Given the description of an element on the screen output the (x, y) to click on. 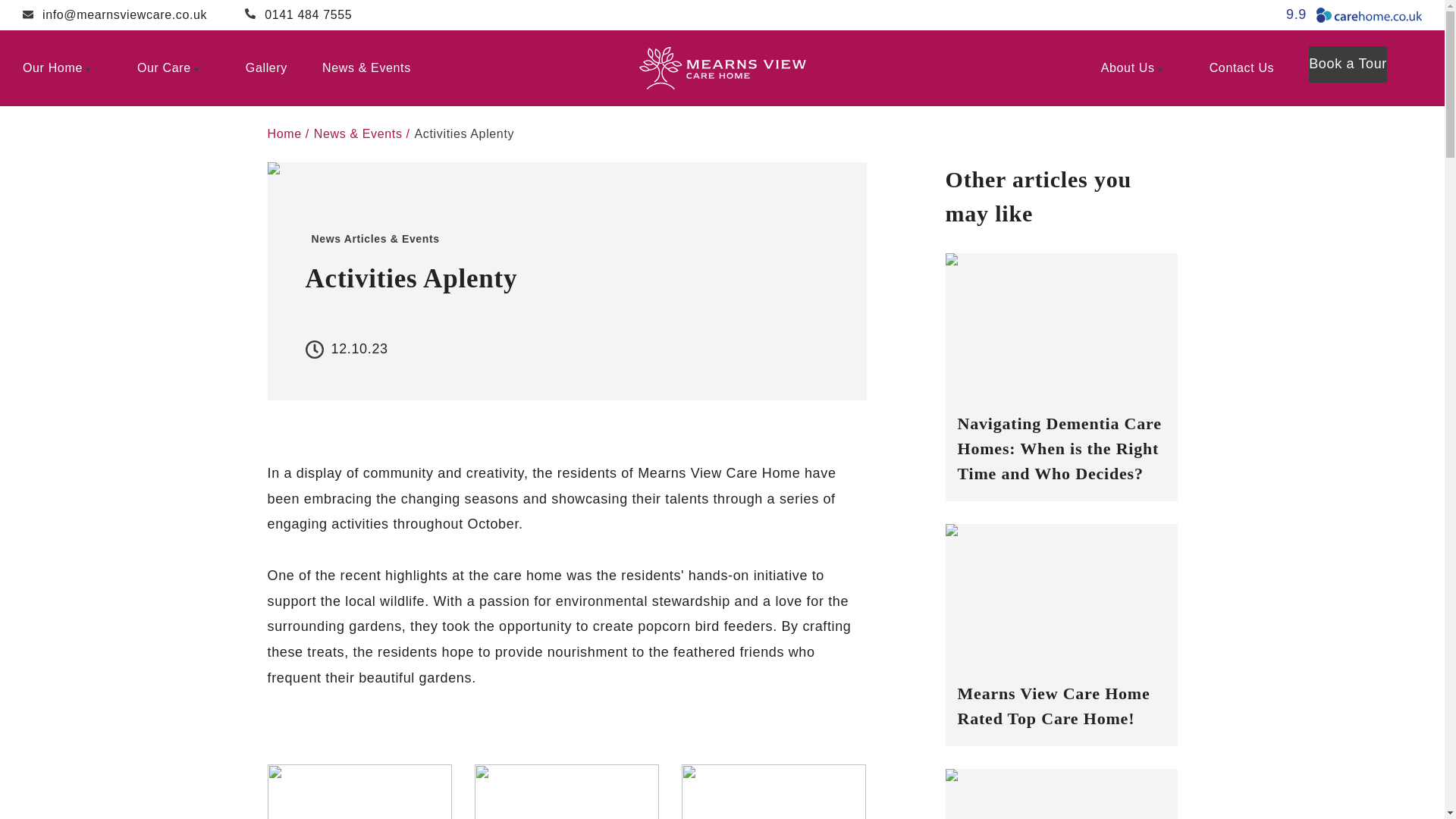
0141 484 7555 (298, 15)
About Us (1137, 68)
Gallery (266, 68)
Book a Tour (1347, 63)
9.9 (1353, 14)
Our Care (173, 68)
Our Home (62, 68)
Contact Us (1242, 68)
